Given the description of an element on the screen output the (x, y) to click on. 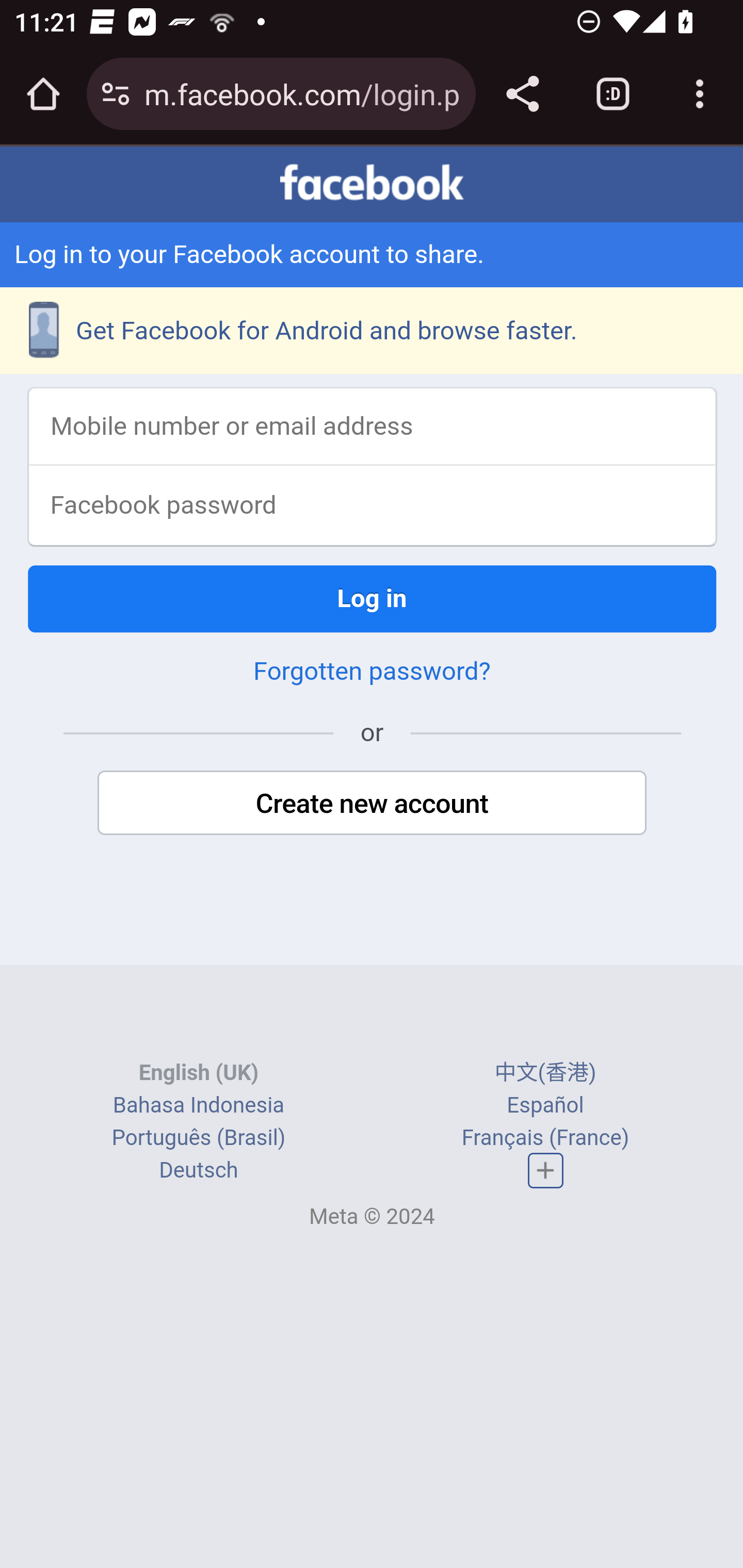
Open the home page (43, 93)
Connection is secure (115, 93)
Share (522, 93)
Switch or close tabs (612, 93)
Customize and control Google Chrome (699, 93)
facebook (371, 183)
Get Facebook for Android and browse faster. (371, 331)
Log in (372, 600)
Forgotten password? (371, 671)
Create new account (372, 803)
中文(香港) (544, 1074)
Bahasa Indonesia (198, 1107)
Español (545, 1107)
Português (Brasil) (197, 1139)
Français (France) (544, 1139)
Complete list of languages (545, 1172)
Deutsch (198, 1171)
